Given the description of an element on the screen output the (x, y) to click on. 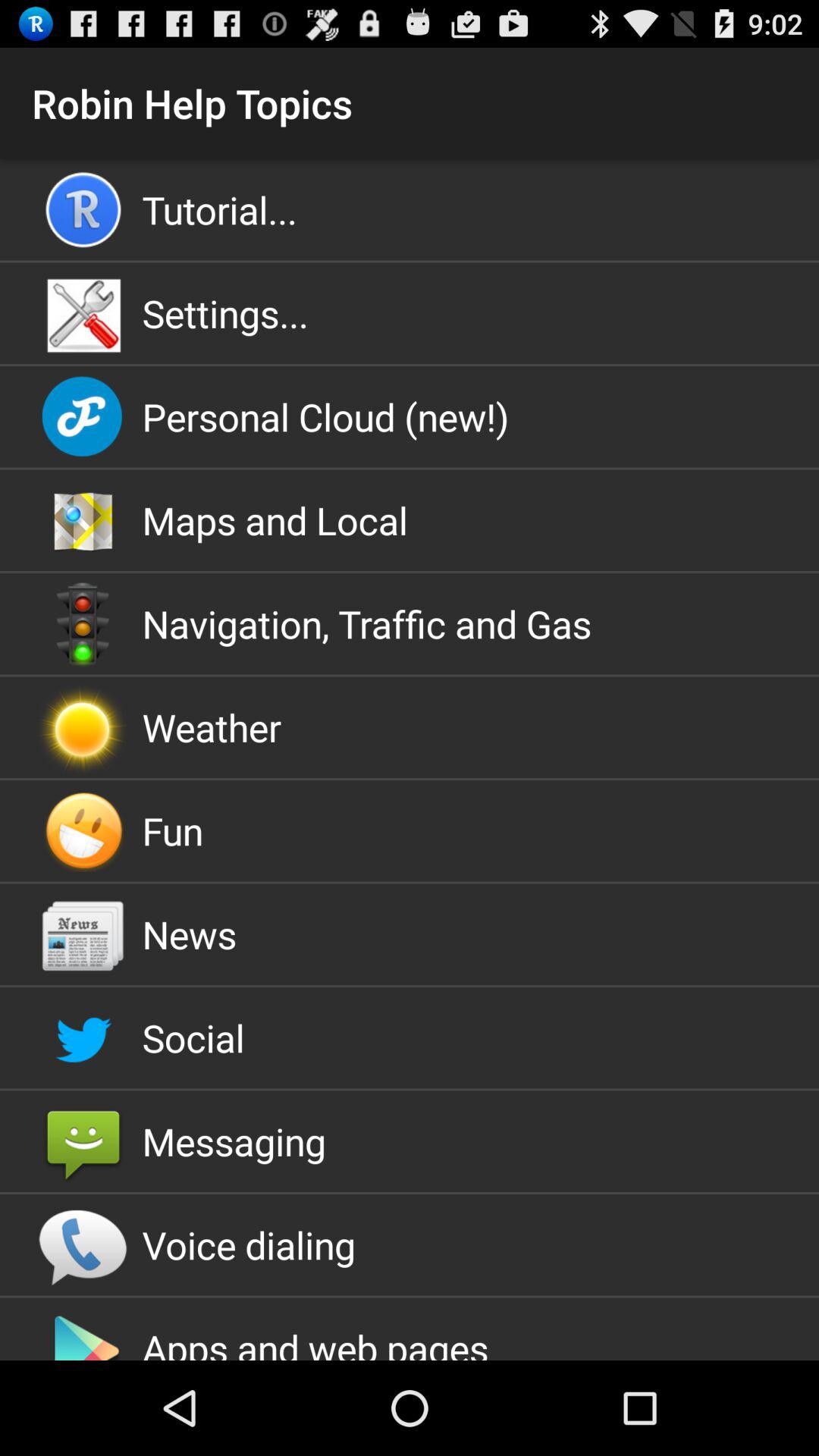
turn off app below the  weather (409, 830)
